Given the description of an element on the screen output the (x, y) to click on. 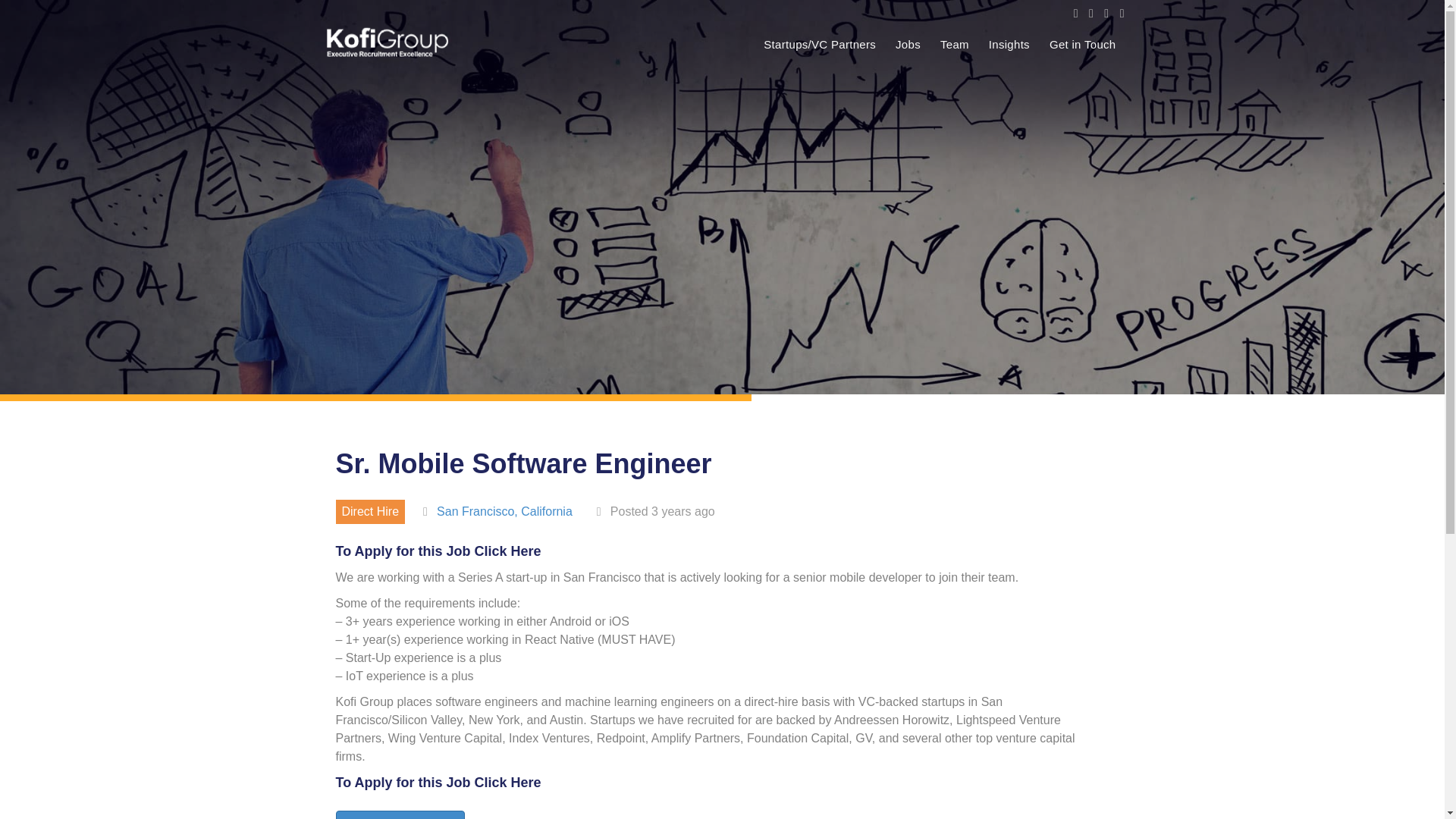
Get in Touch (1083, 44)
Team (954, 44)
To Apply for this Job Click Here (437, 550)
Insights (1008, 44)
Logo (387, 42)
To Apply for this Job Click Here (437, 782)
Apply for job (399, 814)
Jobs (908, 44)
San Francisco, California (504, 511)
